Given the description of an element on the screen output the (x, y) to click on. 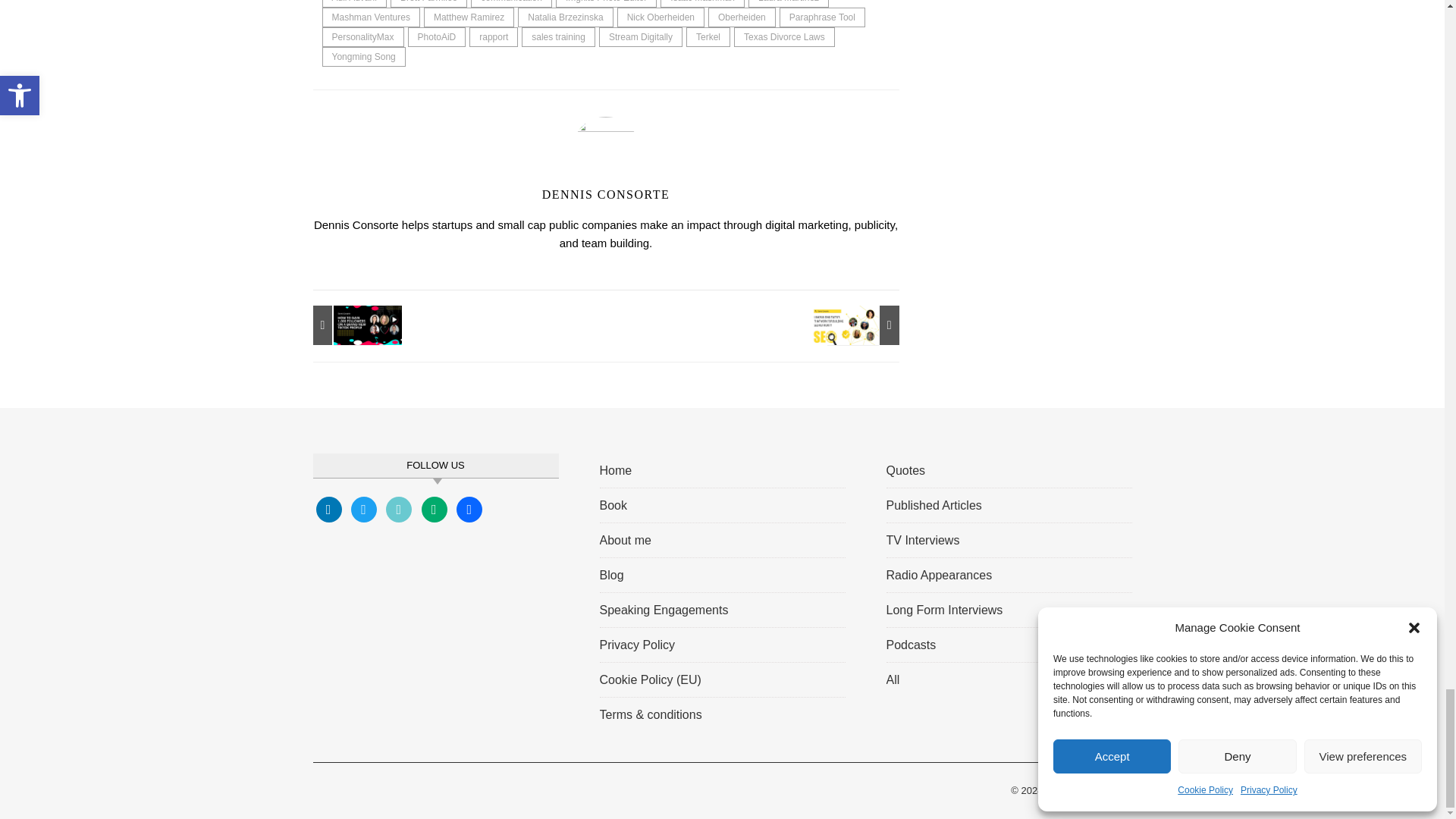
Instagram (398, 508)
Posts by Dennis Consorte (605, 194)
Facebook (327, 508)
Twitter (363, 508)
How to Gain 1,000 Followers on a Brand New TikTok Profile (346, 324)
